Given the description of an element on the screen output the (x, y) to click on. 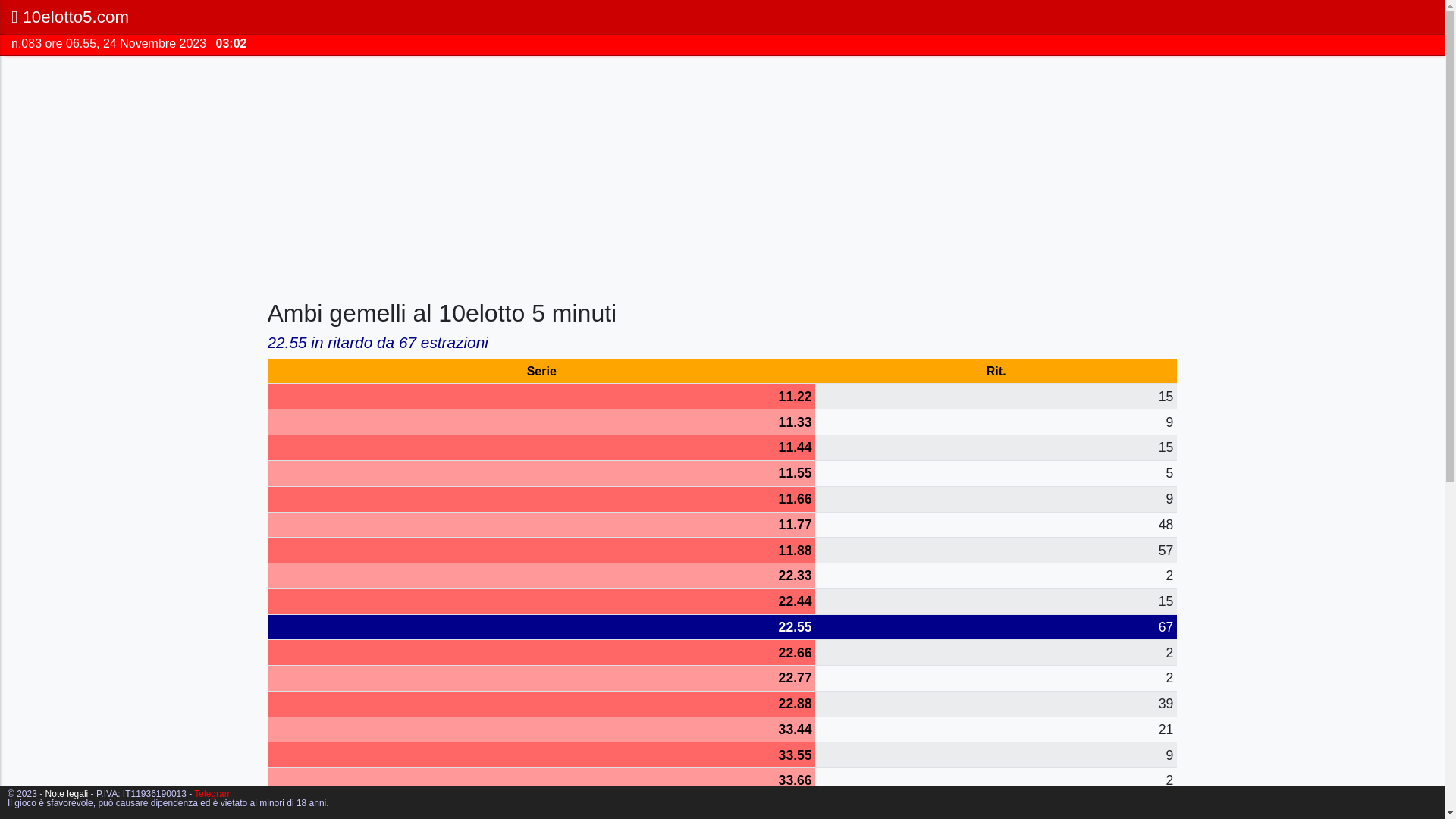
Telegram Element type: text (212, 793)
Note legali Element type: text (66, 793)
Advertisement Element type: hover (721, 174)
